Given the description of an element on the screen output the (x, y) to click on. 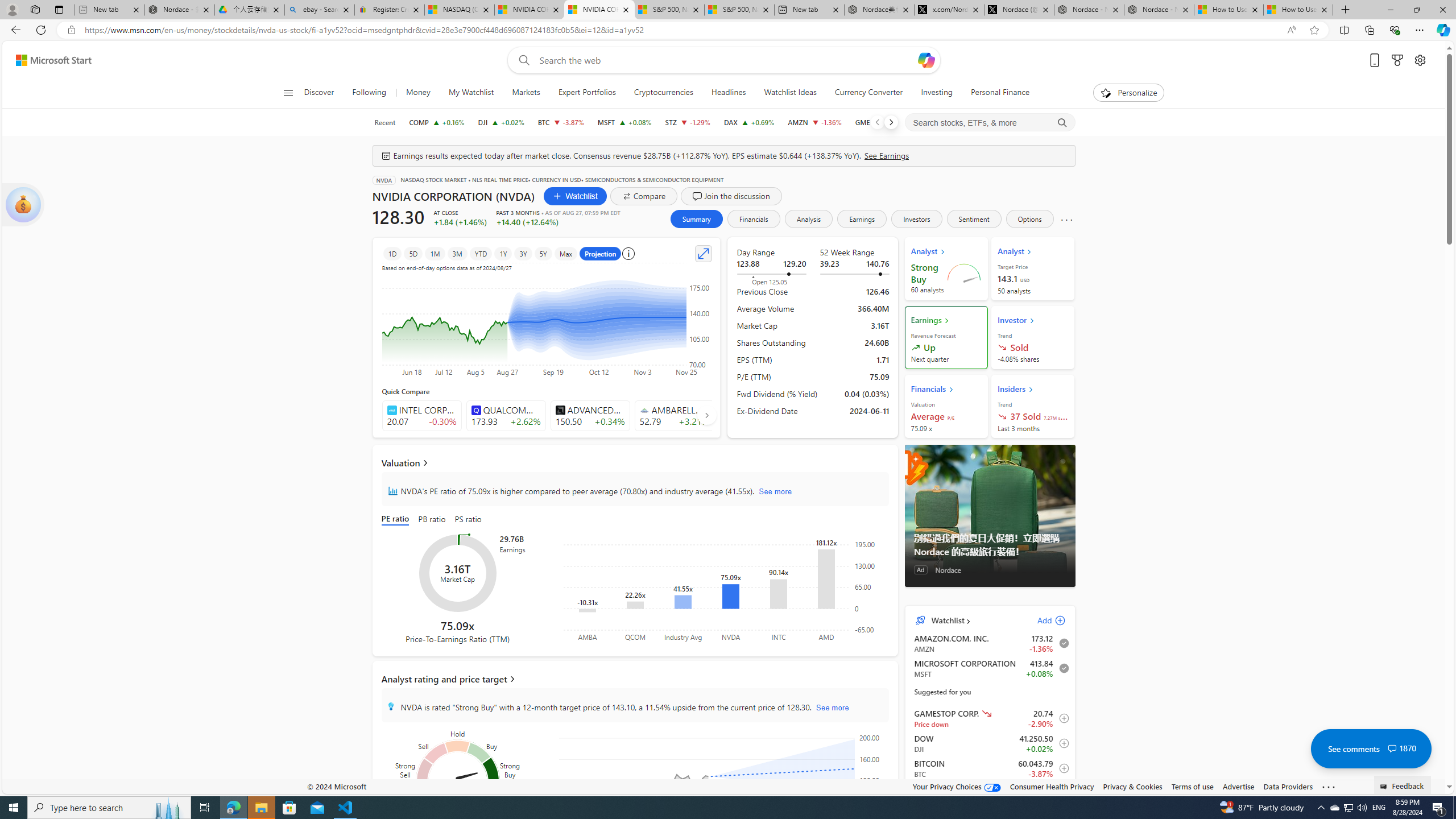
AutomationID: finance_carousel_navi_right (706, 415)
Microsoft rewards (1397, 60)
Investing (936, 92)
MSFT MICROSOFT CORPORATION increase 413.84 +0.35 +0.08% (623, 122)
Cryptocurrencies (663, 92)
Add to Watchlist (1061, 793)
Search stocks, ETFs, & more (989, 122)
PE ratio (397, 520)
Valuation (635, 462)
Earnings (861, 218)
